Given the description of an element on the screen output the (x, y) to click on. 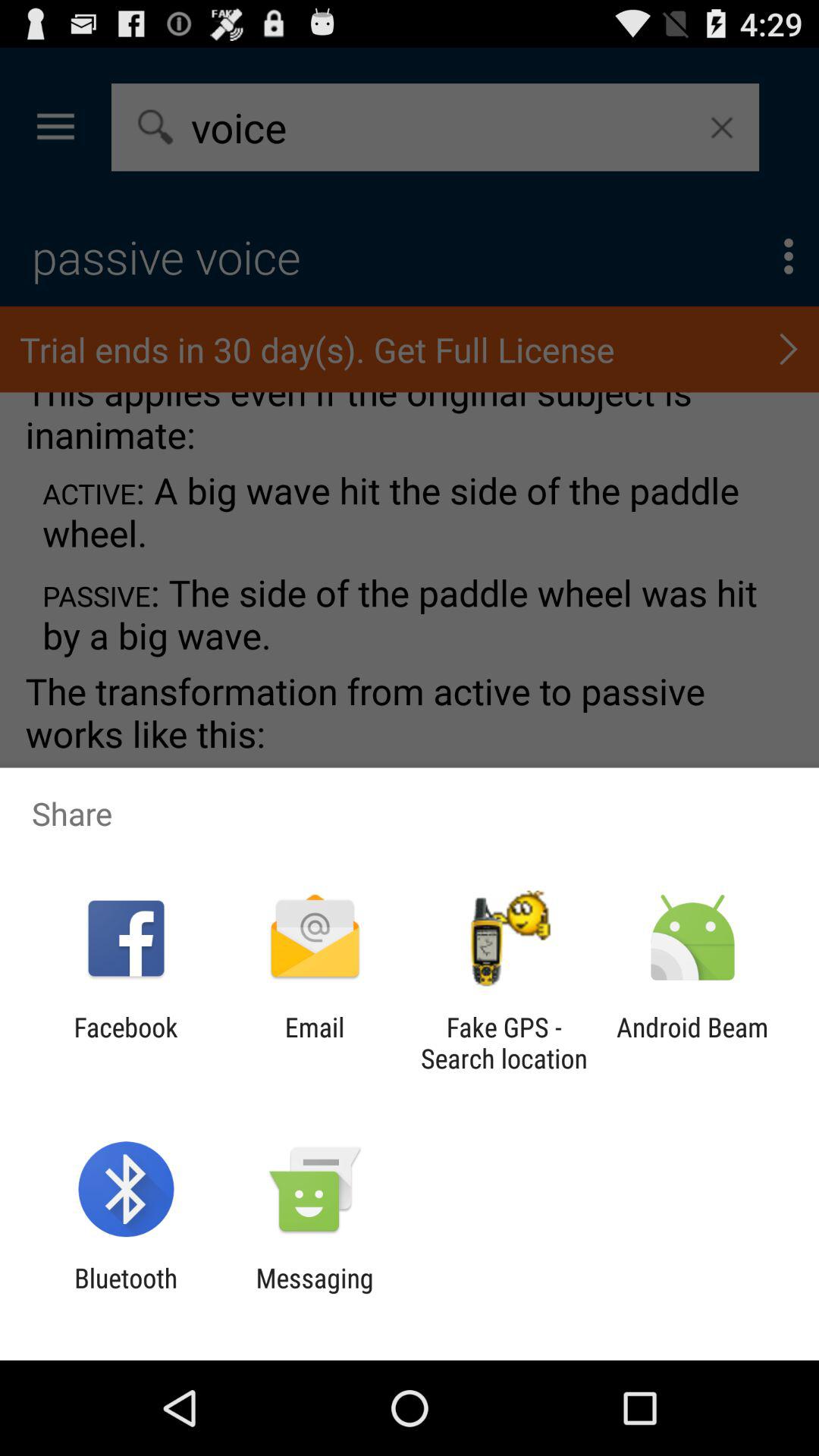
open facebook icon (125, 1042)
